Given the description of an element on the screen output the (x, y) to click on. 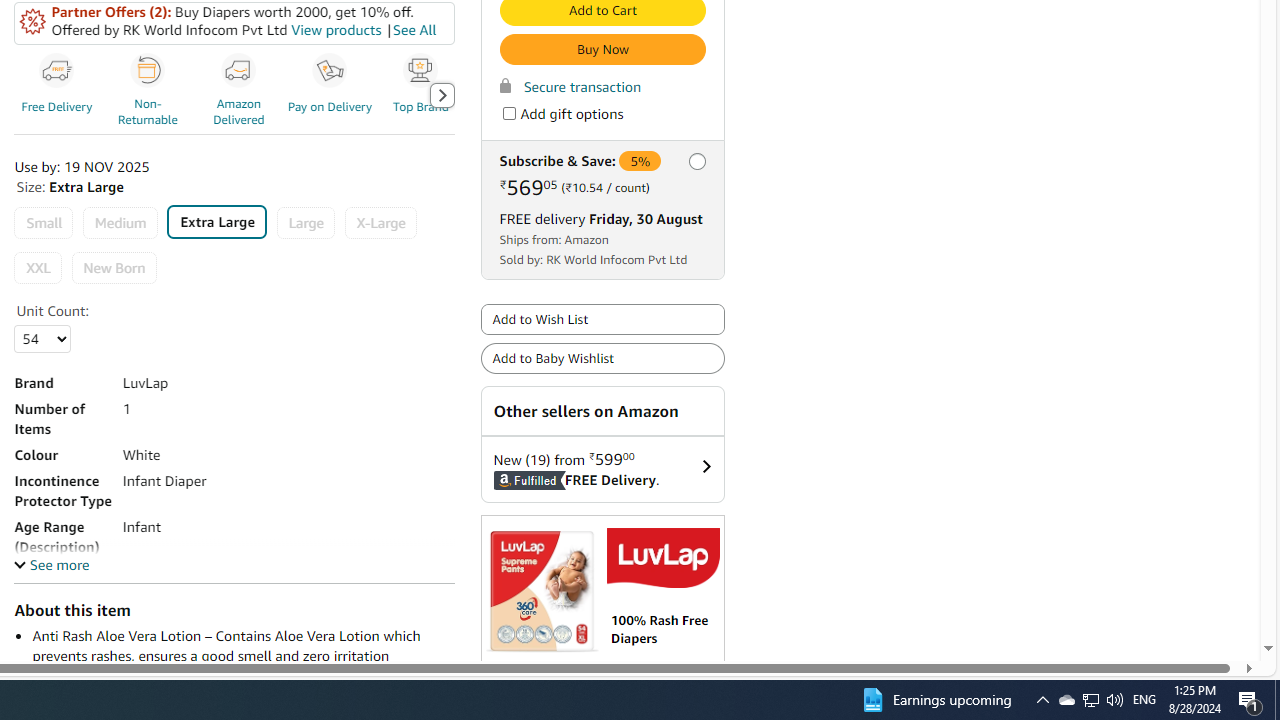
Savings indicator icon (33, 22)
Top Brand (421, 71)
Pay on Delivery (332, 94)
Add to Baby Wishlist (602, 358)
